Given the description of an element on the screen output the (x, y) to click on. 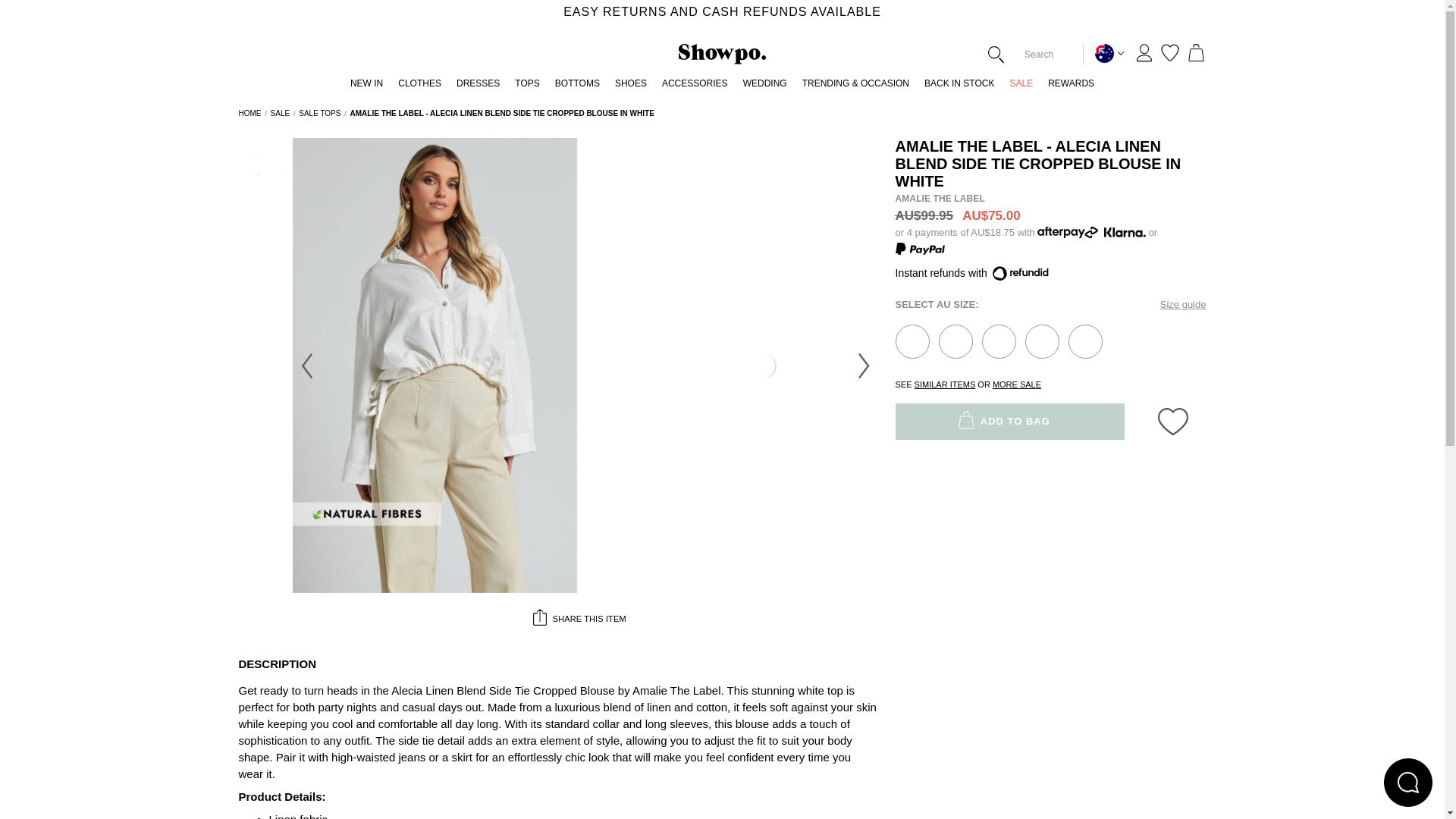
Add to bag (911, 341)
PayPal (919, 248)
Add to bag (1042, 341)
Klarna (1122, 232)
Add to bag (955, 341)
NEW IN (366, 87)
Add to bag (997, 341)
